Given the description of an element on the screen output the (x, y) to click on. 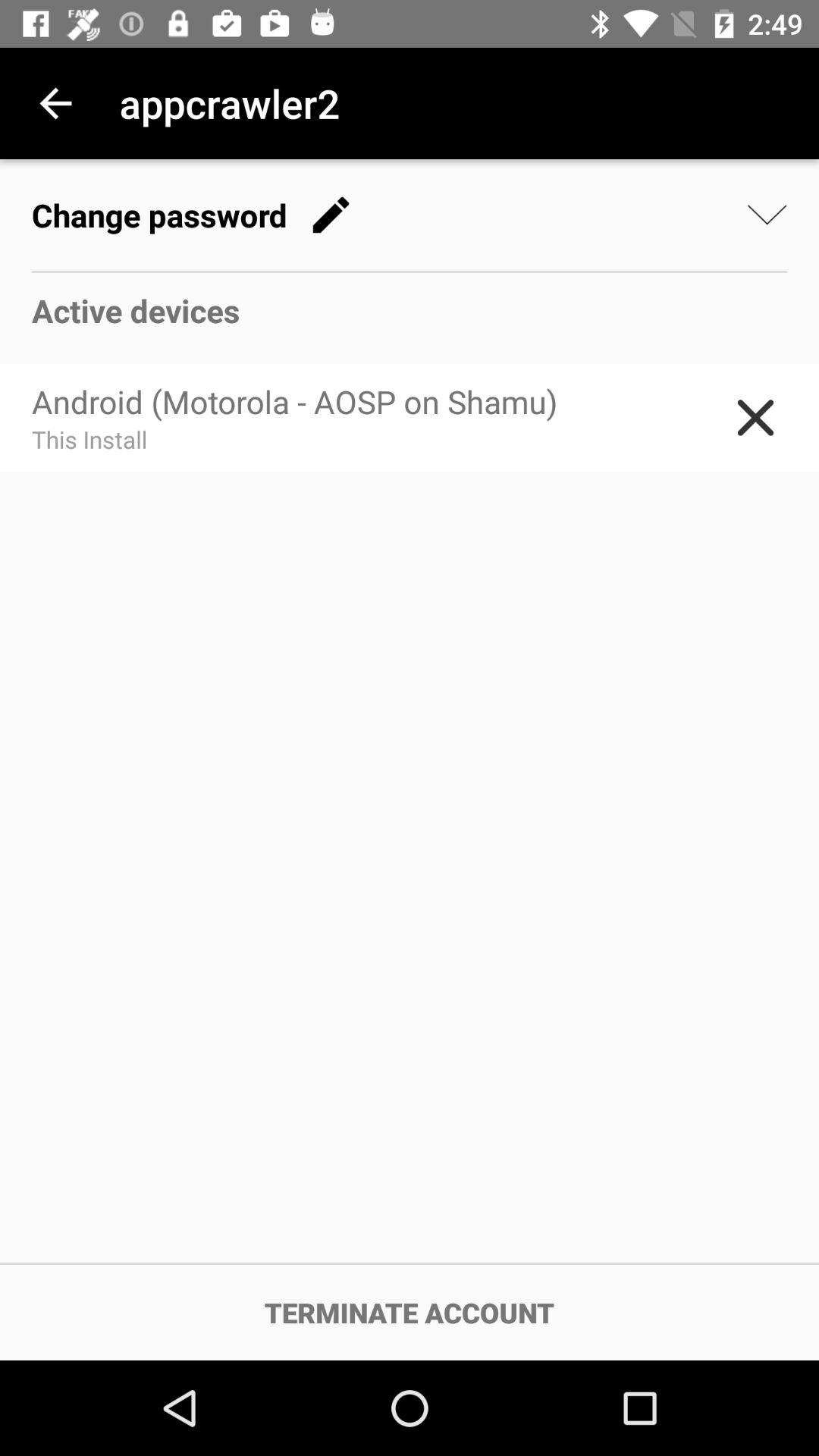
click terminate account (409, 1312)
